Given the description of an element on the screen output the (x, y) to click on. 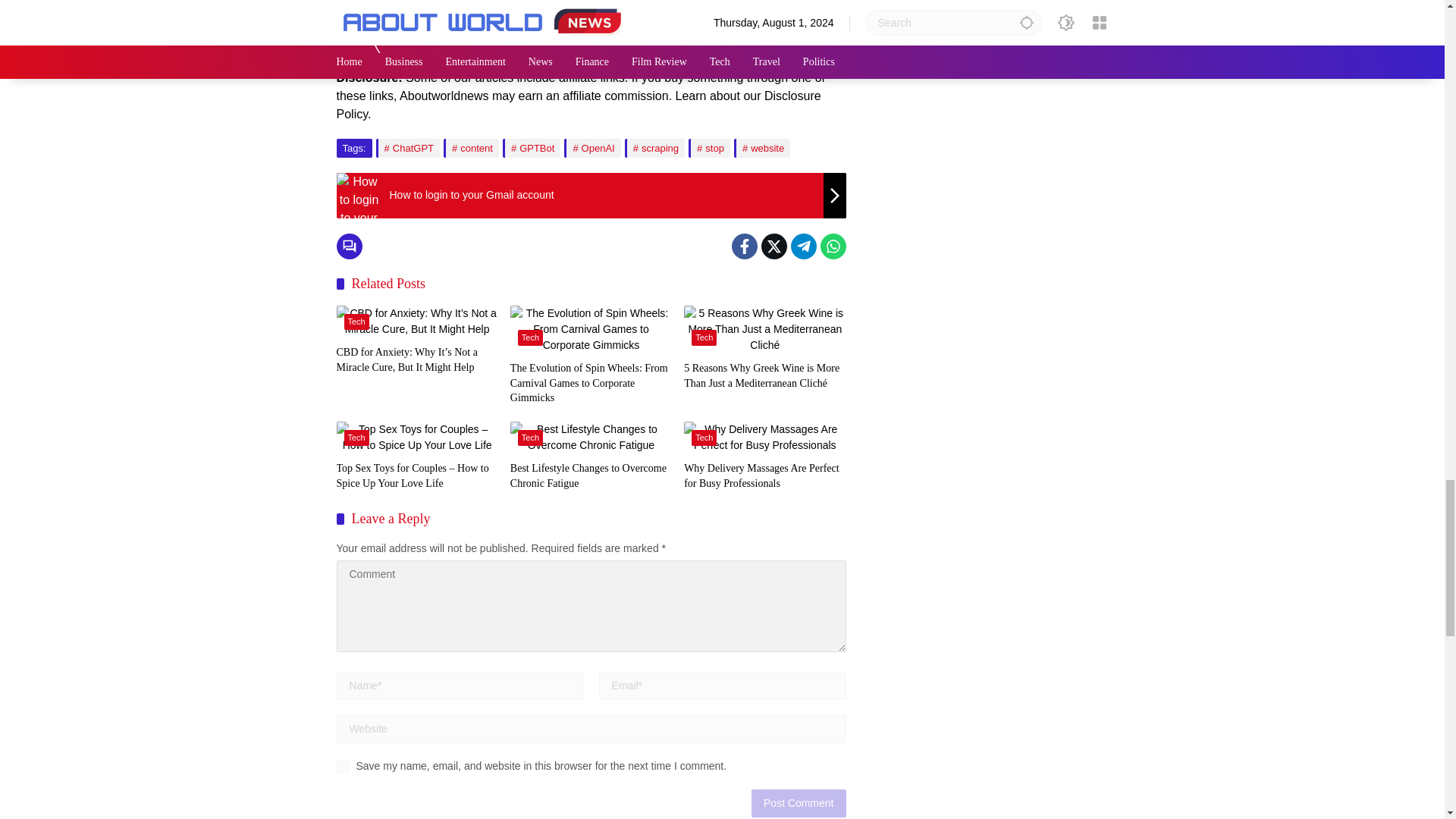
website (761, 148)
OpenAI (592, 148)
stop (709, 148)
Post Comment (798, 803)
ChatGPT (407, 148)
content (471, 148)
scraping (654, 148)
yes (342, 766)
How to login to your Gmail account (590, 195)
Facebook (743, 246)
How to login to your Gmail account (358, 195)
GPTBot (531, 148)
